Given the description of an element on the screen output the (x, y) to click on. 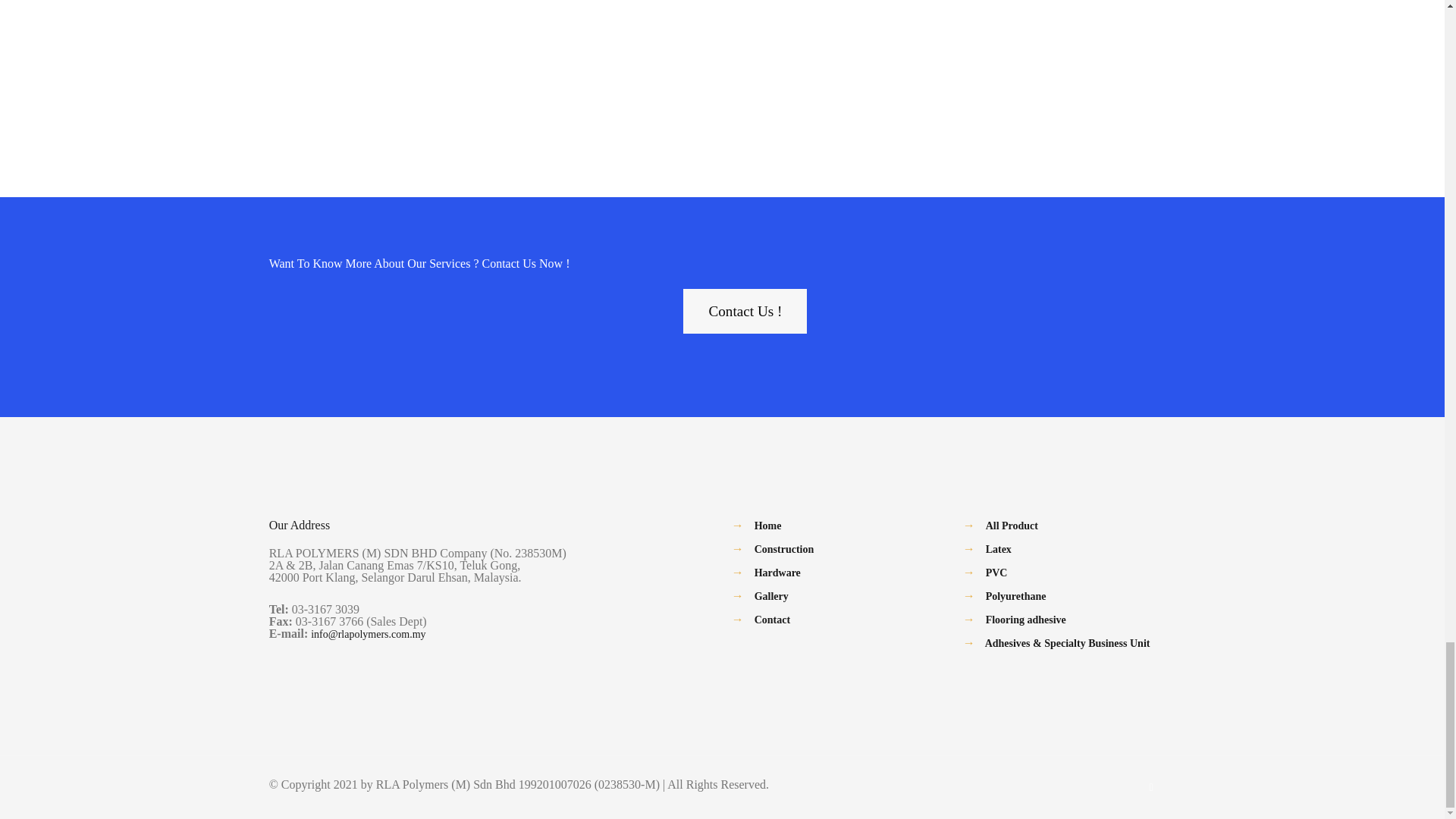
Contact (772, 619)
Contact Us ! (744, 311)
Construction (783, 549)
Hardware (777, 572)
All Product (1011, 525)
Gallery (771, 595)
Home (767, 525)
Latex (998, 549)
